Given the description of an element on the screen output the (x, y) to click on. 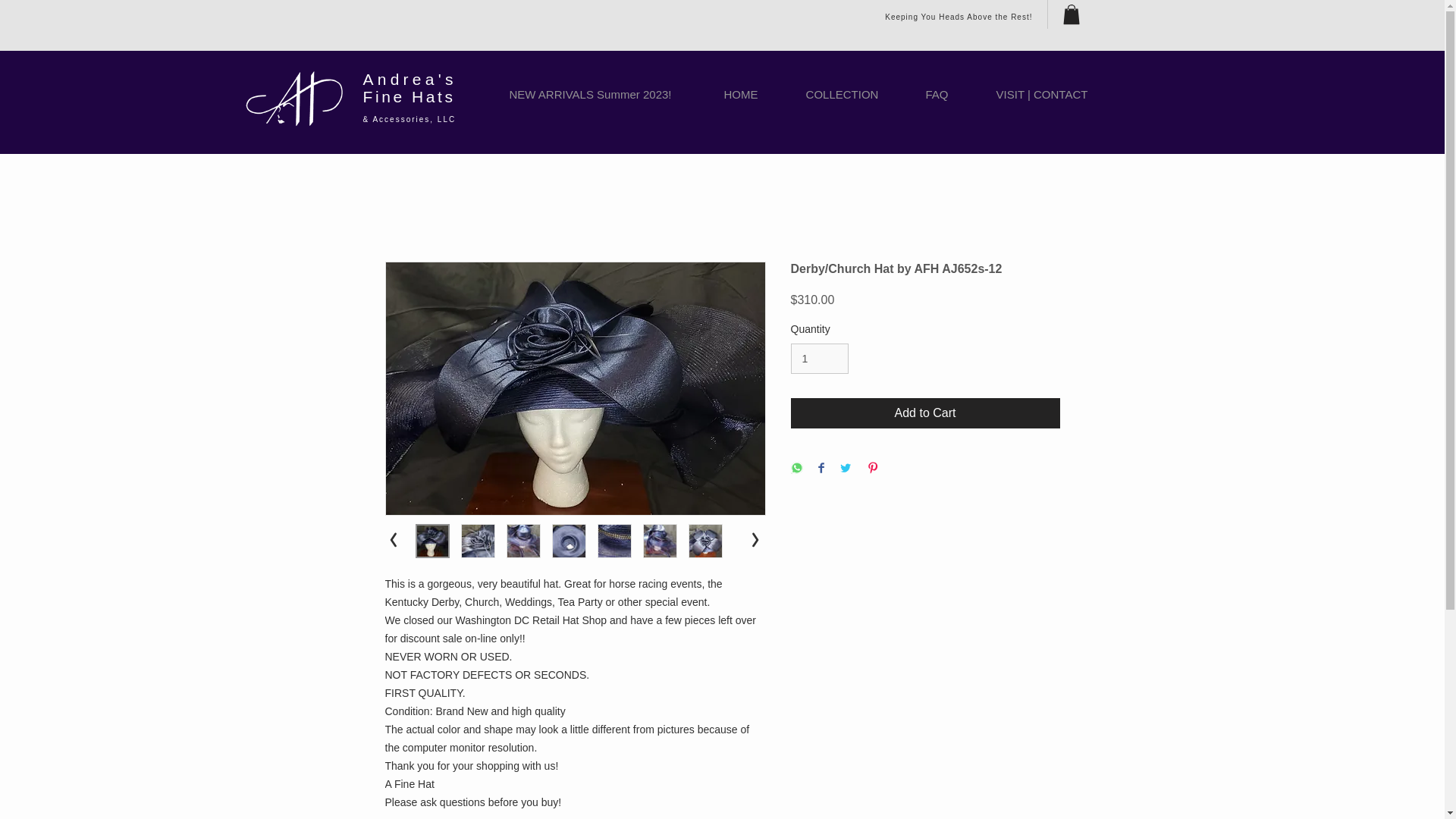
FAQ (936, 94)
HOME (740, 94)
Andrea's Fine Hats (409, 87)
Add to Cart (924, 413)
1 (818, 358)
NEW ARRIVALS Summer 2023! (590, 94)
